Given the description of an element on the screen output the (x, y) to click on. 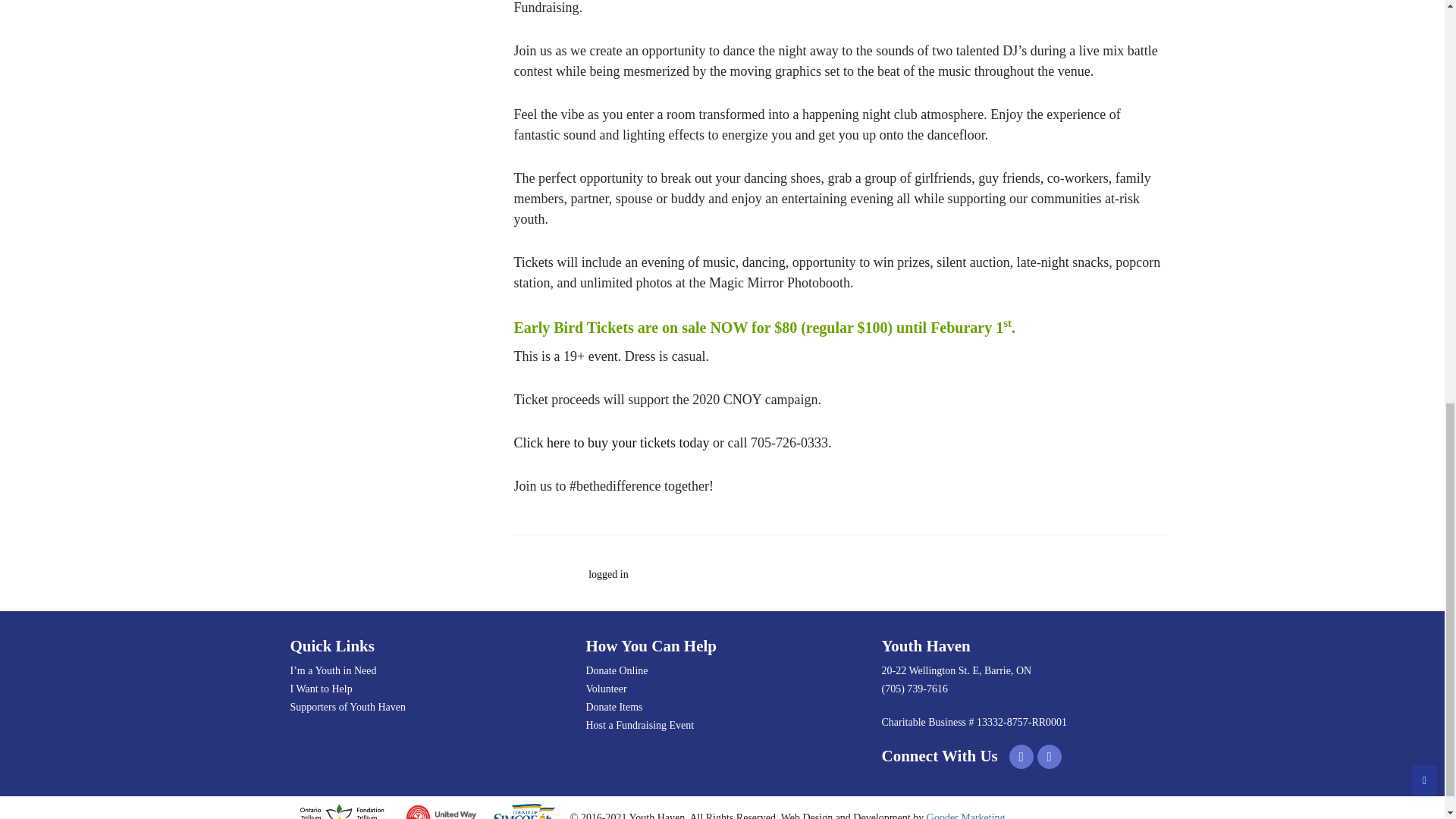
logged in (608, 573)
Donate Online (722, 670)
Click here to buy your tickets today (611, 442)
Supporters of Youth Haven (425, 707)
Donate Items (722, 707)
Gooder Marketing (966, 815)
I Want to Help (425, 689)
Host a Fundraising Event (722, 725)
Volunteer (722, 689)
